Given the description of an element on the screen output the (x, y) to click on. 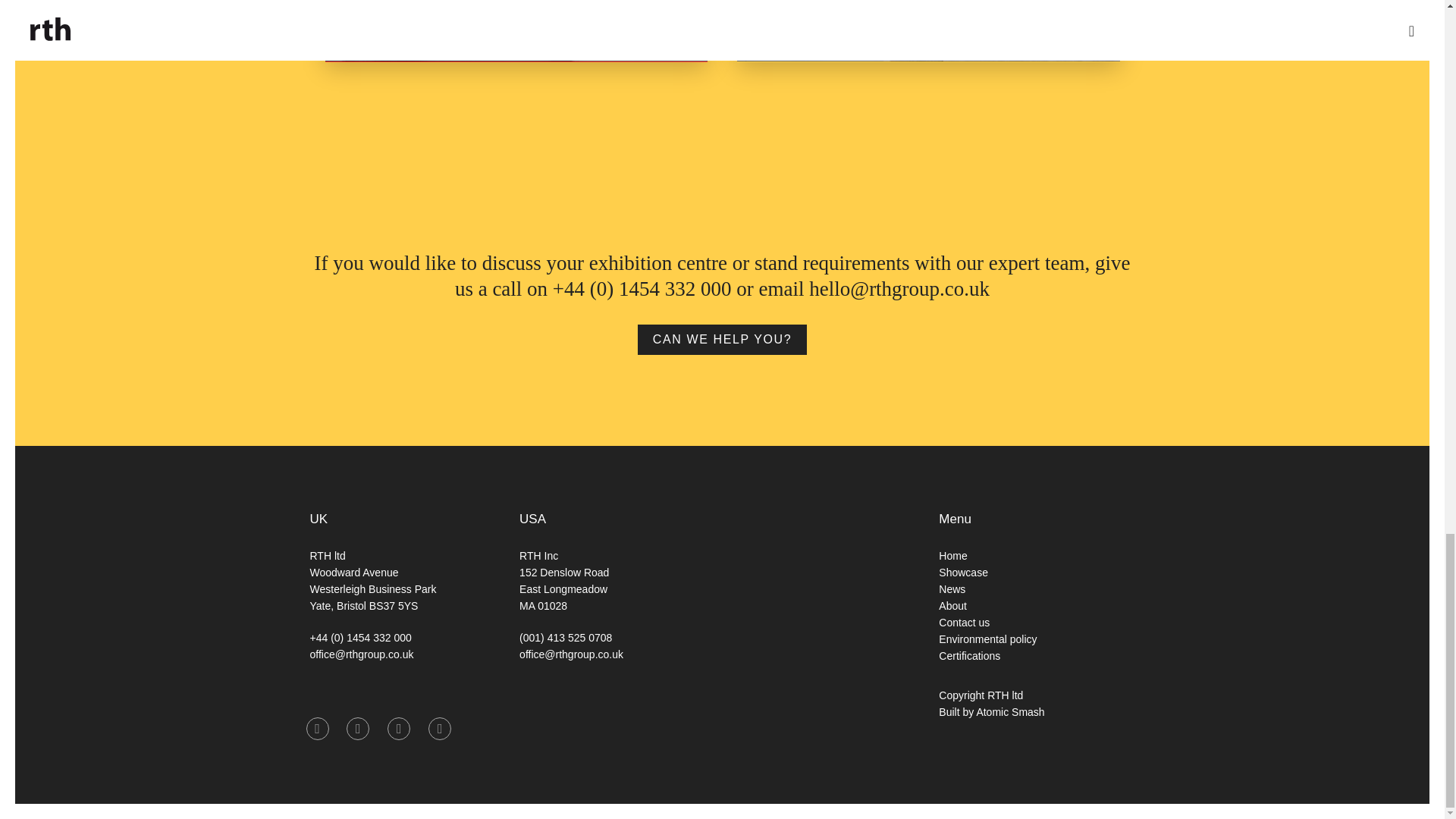
Atomic Smash (1009, 711)
Contact us (964, 622)
Refuelling the delegates at the 2019 Paris Air Show (515, 31)
About (952, 605)
Environmental policy (987, 639)
CAN WE HELP YOU? (721, 339)
News (952, 589)
Home (952, 555)
Showcase (963, 572)
Certifications (969, 655)
